Given the description of an element on the screen output the (x, y) to click on. 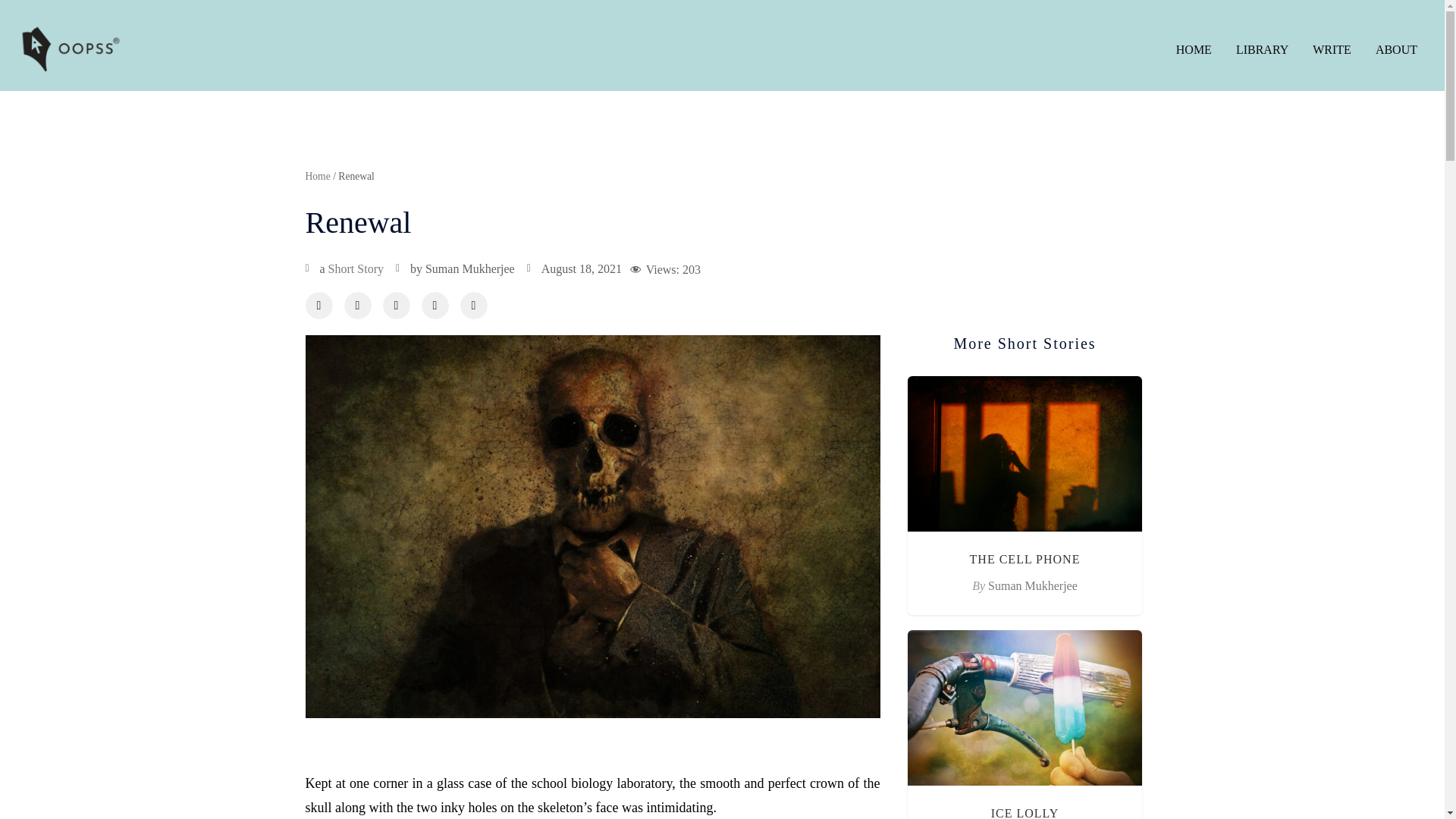
WRITE (1331, 49)
ABOUT (1395, 49)
Ice Lolly (1025, 812)
HOME (1193, 49)
The Cell Phone (1024, 558)
Home (317, 175)
Suman Mukherjee (1032, 585)
LIBRARY (1262, 49)
THE CELL PHONE (1024, 558)
Short Story (356, 268)
